Given the description of an element on the screen output the (x, y) to click on. 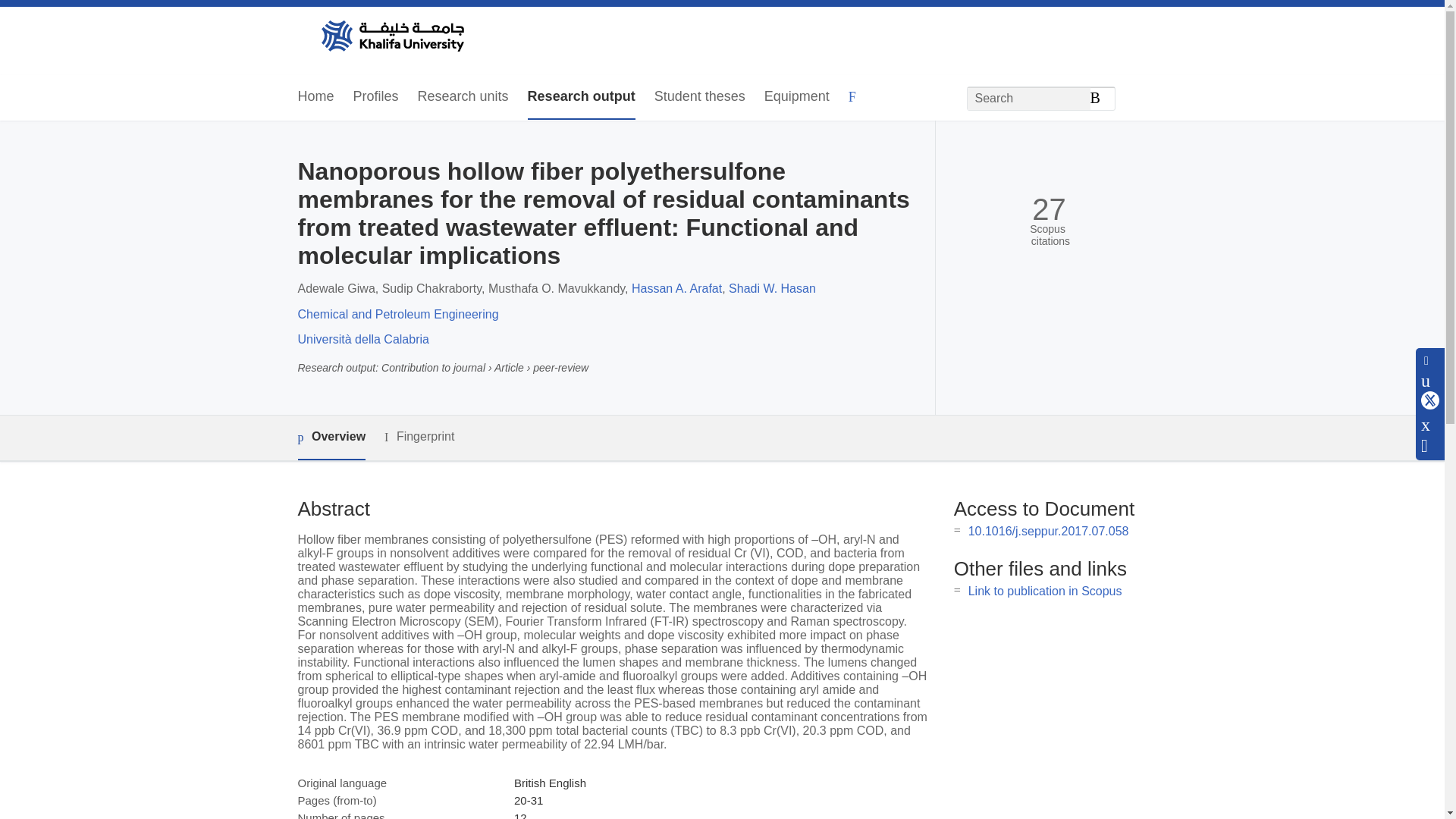
Hassan A. Arafat (676, 287)
Fingerprint (419, 436)
Link to publication in Scopus (1045, 590)
Shadi W. Hasan (772, 287)
Research output (580, 97)
Equipment (796, 97)
Khalifa University Home (391, 37)
Profiles (375, 97)
Research units (462, 97)
Student theses (699, 97)
Chemical and Petroleum Engineering (397, 314)
Overview (331, 437)
